Given the description of an element on the screen output the (x, y) to click on. 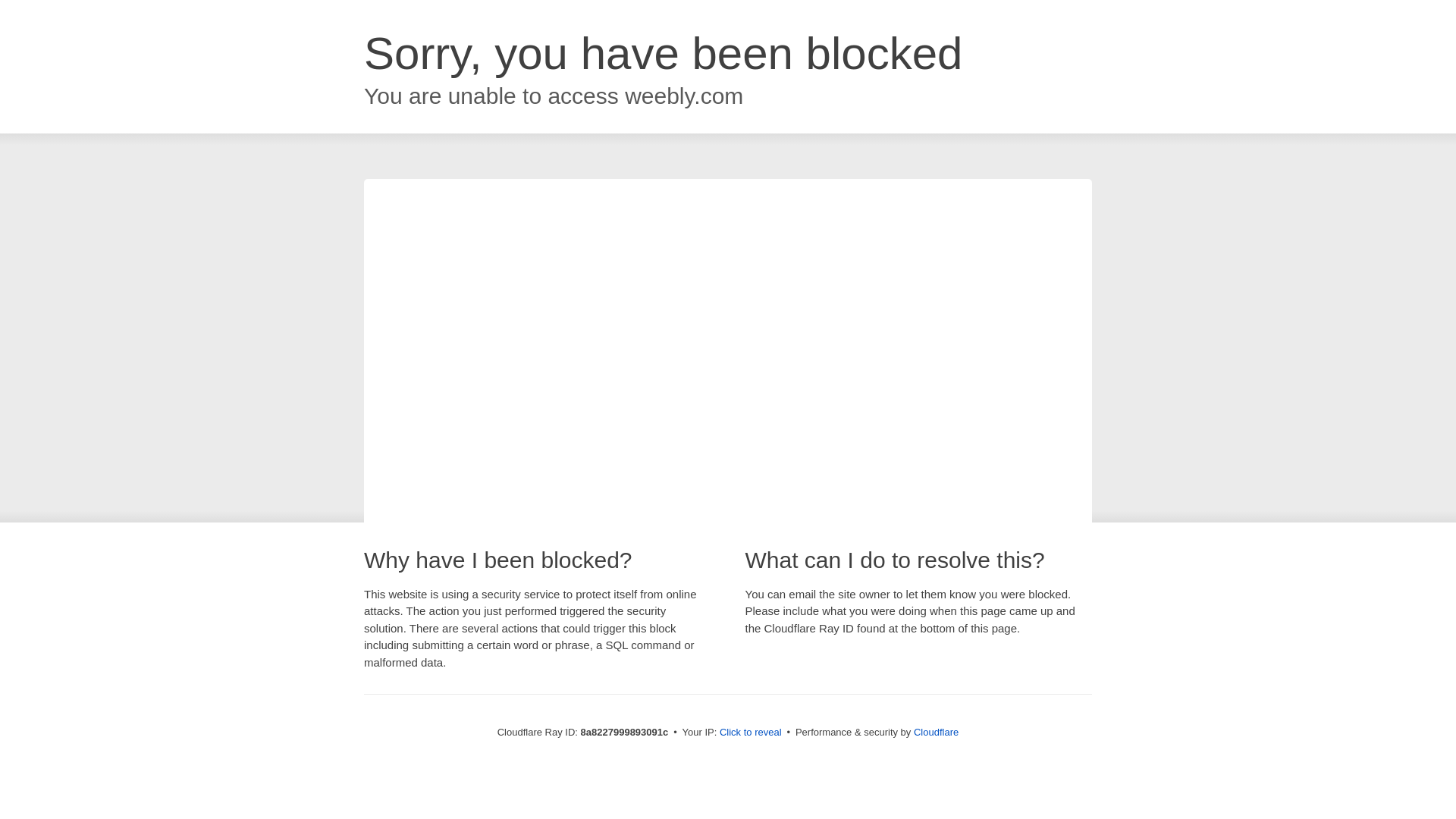
Cloudflare (936, 731)
Click to reveal (750, 732)
